Given the description of an element on the screen output the (x, y) to click on. 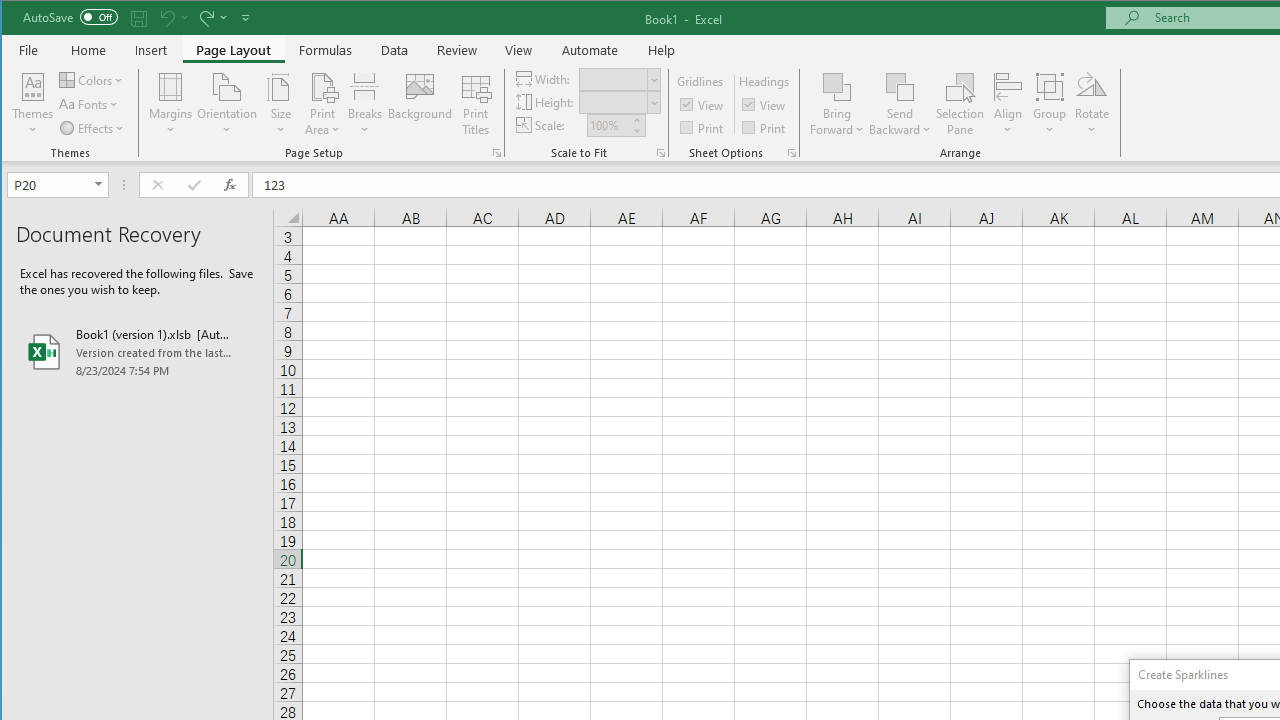
Width (619, 78)
Send Backward (900, 104)
Margins (170, 104)
Print (765, 126)
Sheet Options (791, 152)
Breaks (365, 104)
